Given the description of an element on the screen output the (x, y) to click on. 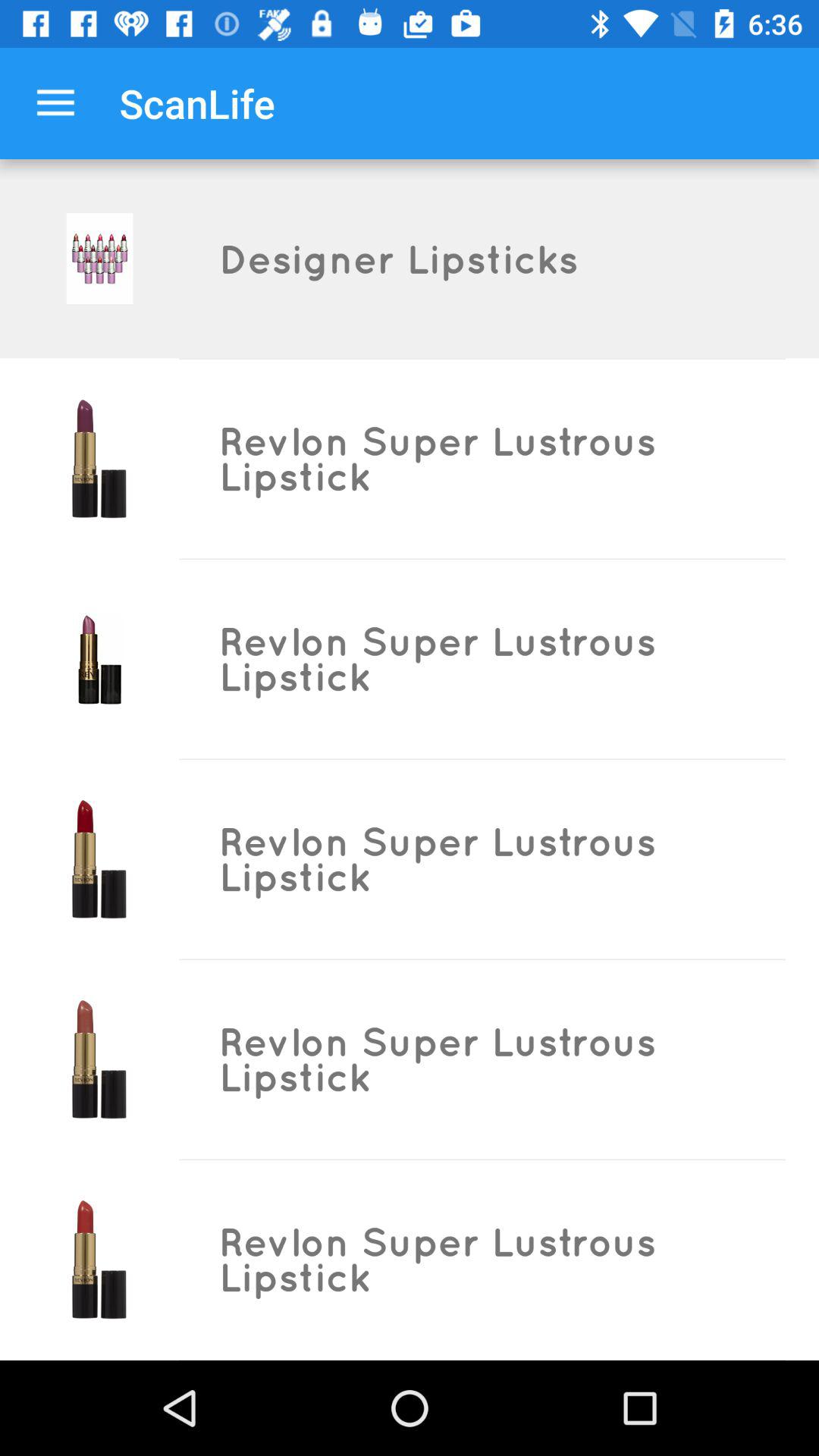
select the 2nd logo (99, 458)
select the 2nd lipstick from the top (99, 658)
